Given the description of an element on the screen output the (x, y) to click on. 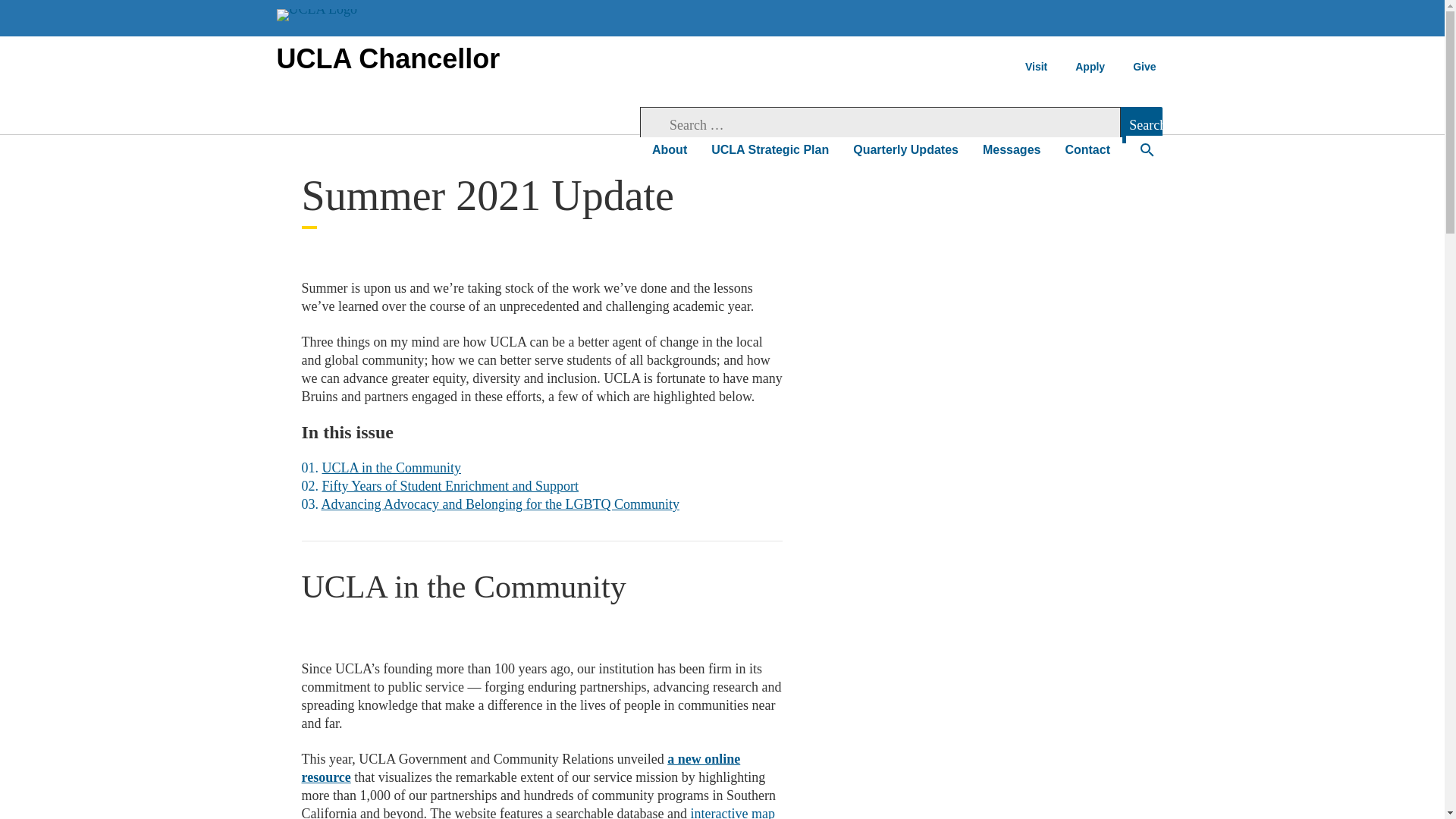
Search Icon (1147, 150)
Visit (1036, 66)
Give (1144, 66)
UCLA in the Community (391, 467)
Messages (1011, 149)
Fifty Years of Student Enrichment and Support (449, 485)
Advancing Advocacy and Belonging for the LGBTQ Community (500, 503)
a new online resource (521, 767)
UCLA Strategic Plan (769, 149)
About (669, 149)
Search (1140, 125)
Quarterly Updates (906, 149)
Contact (1087, 149)
Search Icon (1146, 151)
interactive map (732, 812)
